Given the description of an element on the screen output the (x, y) to click on. 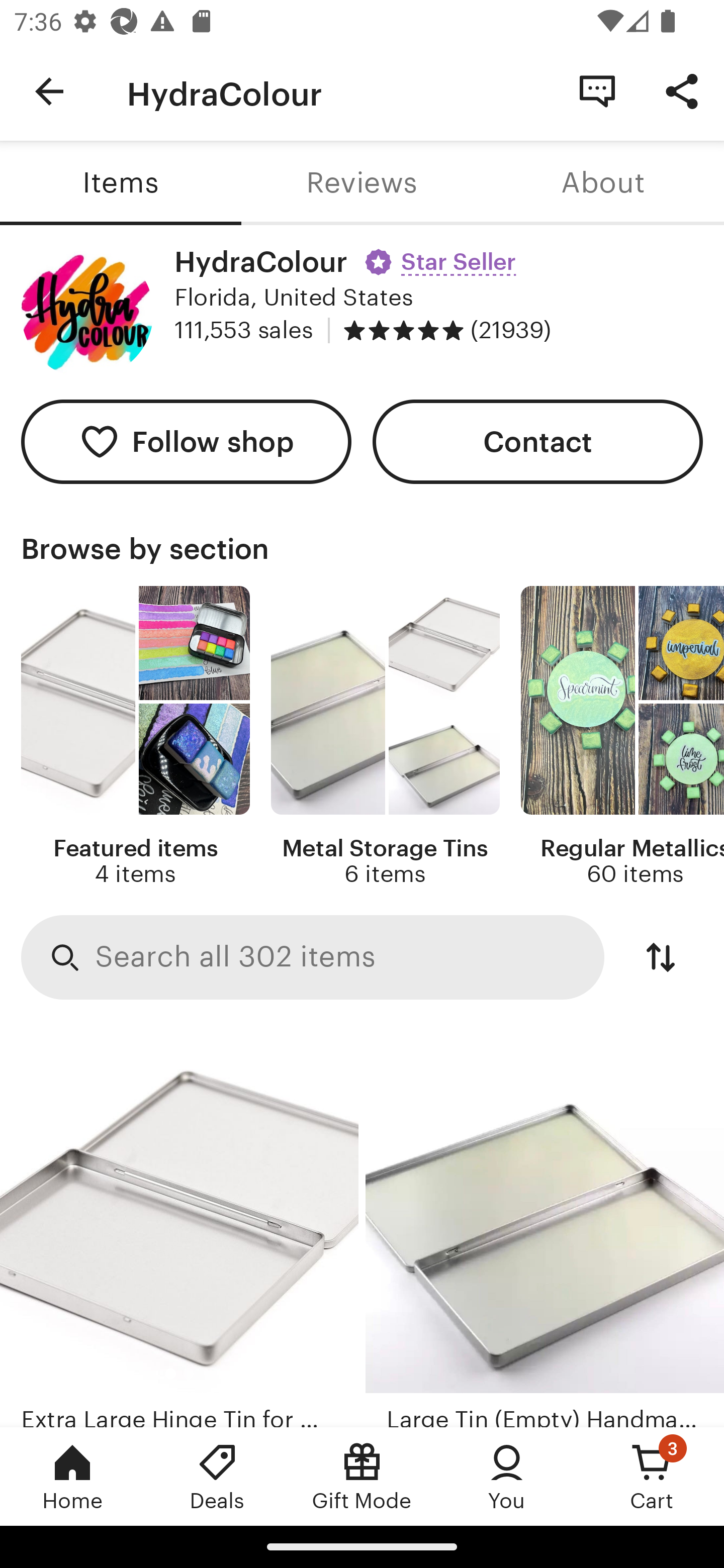
Navigate up (49, 91)
Contact Shop (597, 90)
Share (681, 90)
Reviews (361, 183)
About (603, 183)
Star Seller (442, 255)
Follow shop (185, 441)
Contact (537, 441)
Featured items 4 items (134, 736)
Metal Storage Tins 6 items (384, 736)
Regular Metallics 60 items (622, 736)
Search Search all 302 items (312, 957)
Deals (216, 1475)
Gift Mode (361, 1475)
You (506, 1475)
Cart, 3 new notifications Cart (651, 1475)
